Given the description of an element on the screen output the (x, y) to click on. 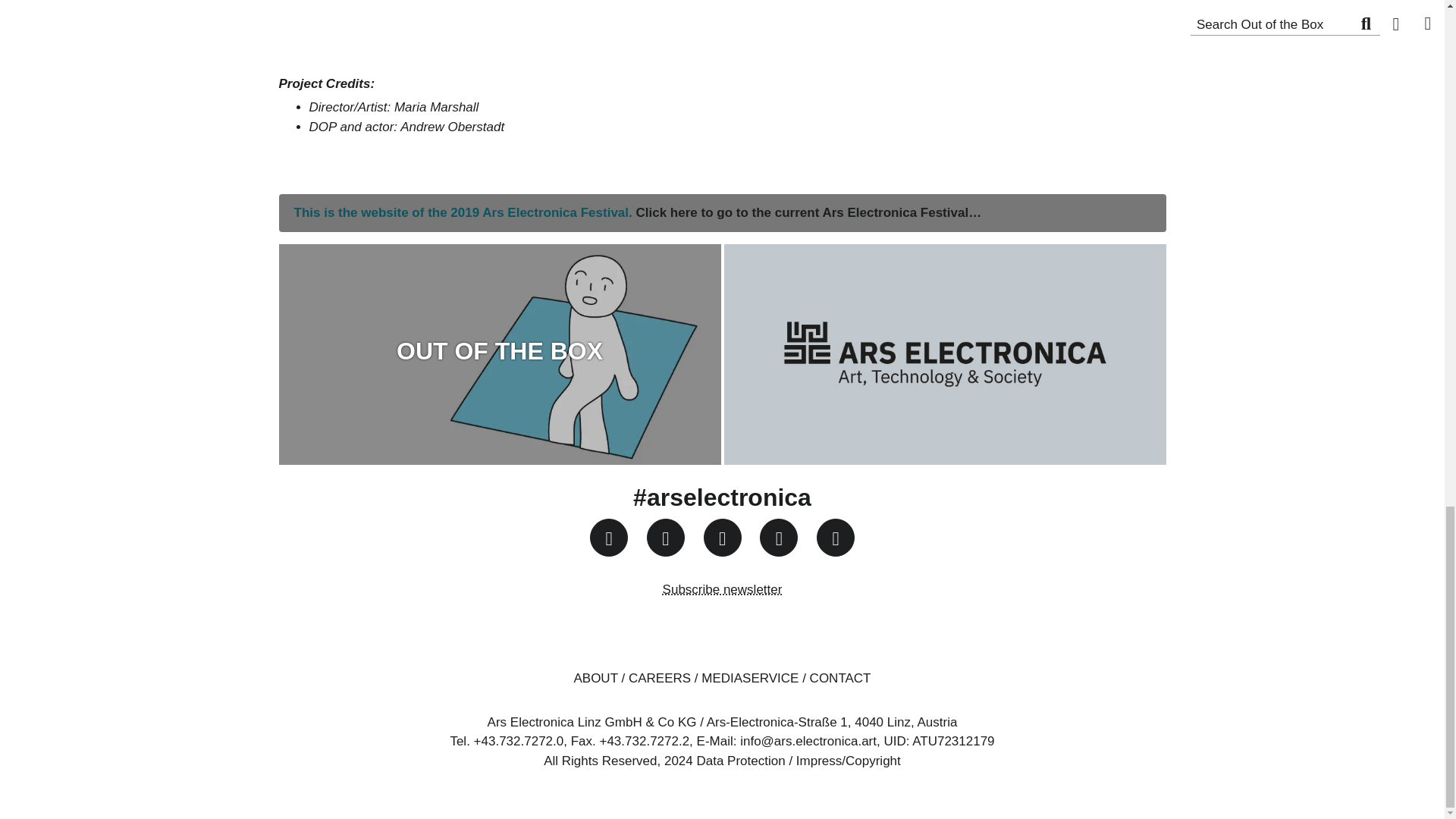
Facebook (665, 536)
Instagram (608, 536)
YouTube (722, 536)
